Given the description of an element on the screen output the (x, y) to click on. 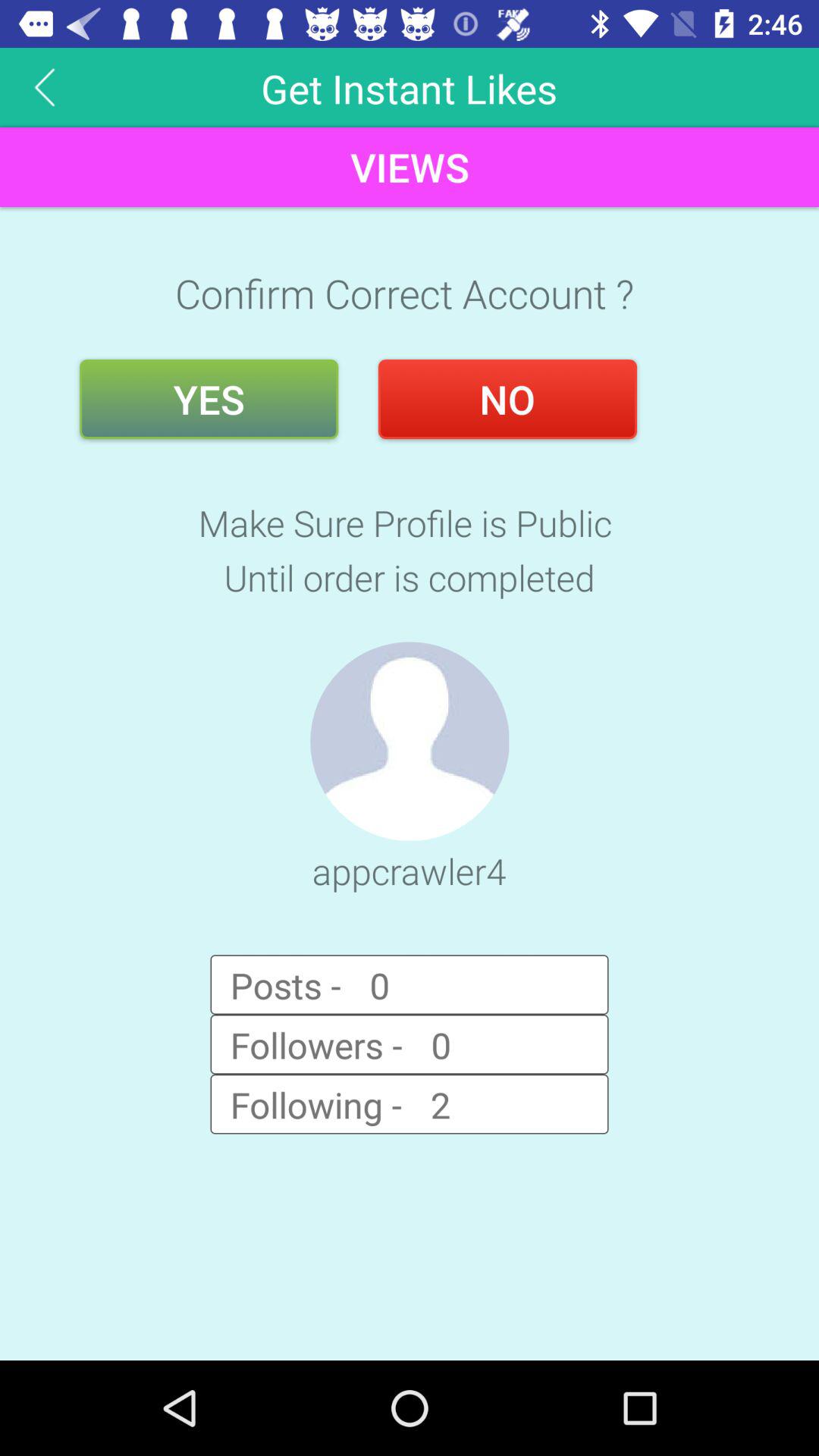
click the item next to the get instant likes app (44, 87)
